Given the description of an element on the screen output the (x, y) to click on. 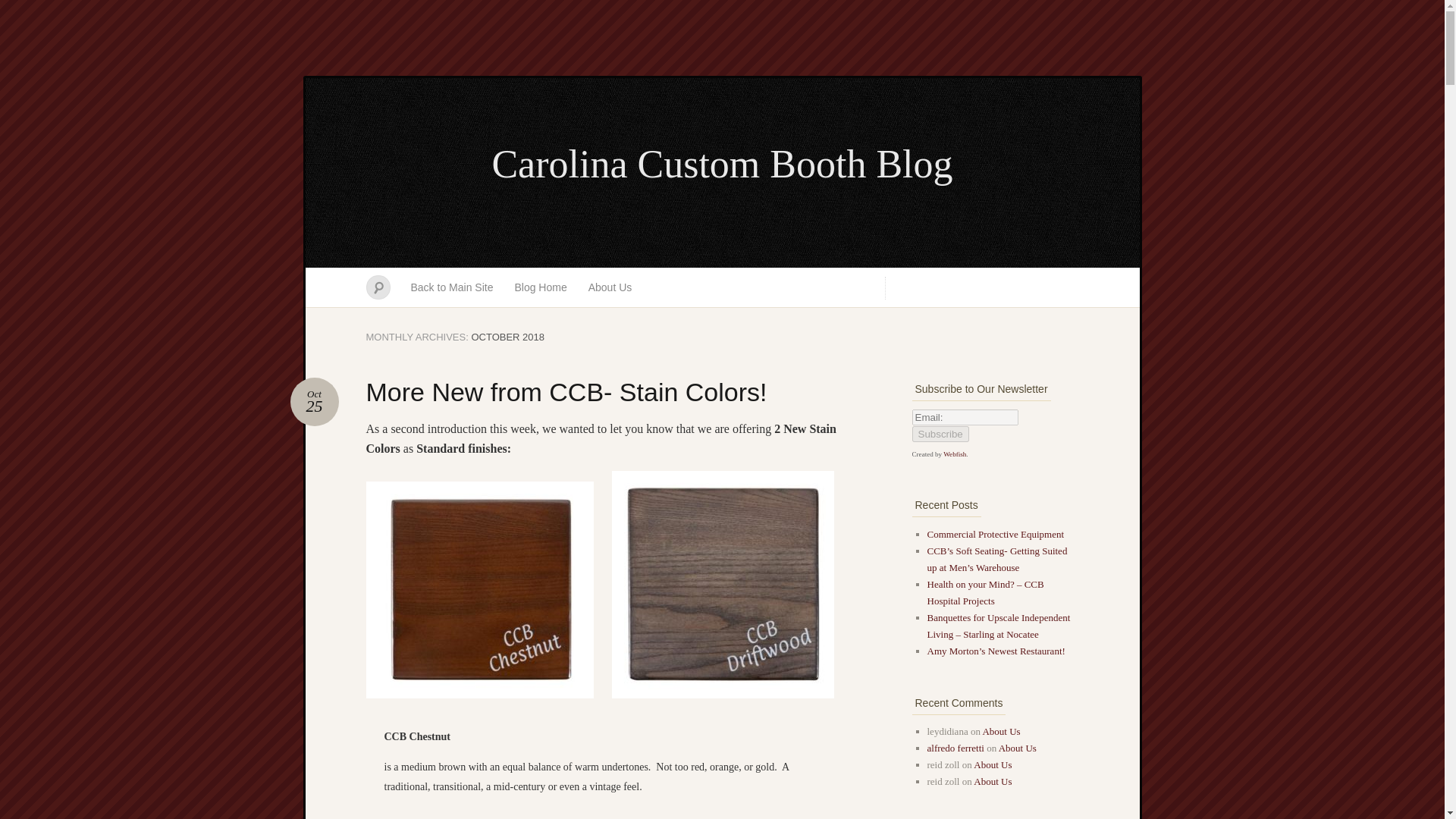
Subscribe (313, 401)
About Us (939, 433)
More New from CCB- Stain Colors! (610, 287)
Carolina Custom Booth Blog (566, 391)
Search (722, 165)
October 25 2018 (21, 7)
Back to Main Site (313, 401)
Blog Home (451, 287)
Carolina Custom Booth Blog (539, 287)
